Given the description of an element on the screen output the (x, y) to click on. 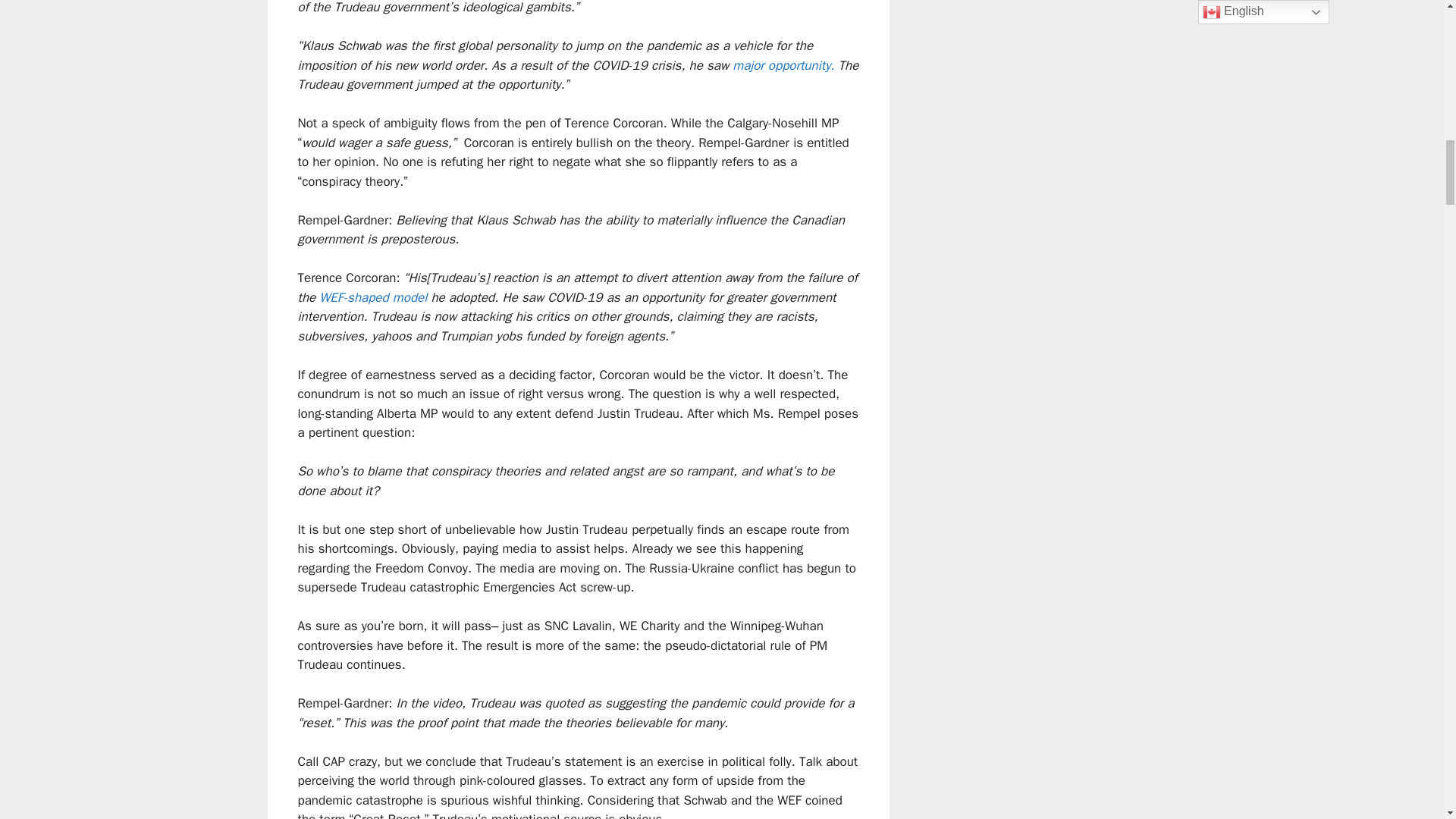
WEF-shaped model (372, 297)
major opportunity. (783, 65)
